Given the description of an element on the screen output the (x, y) to click on. 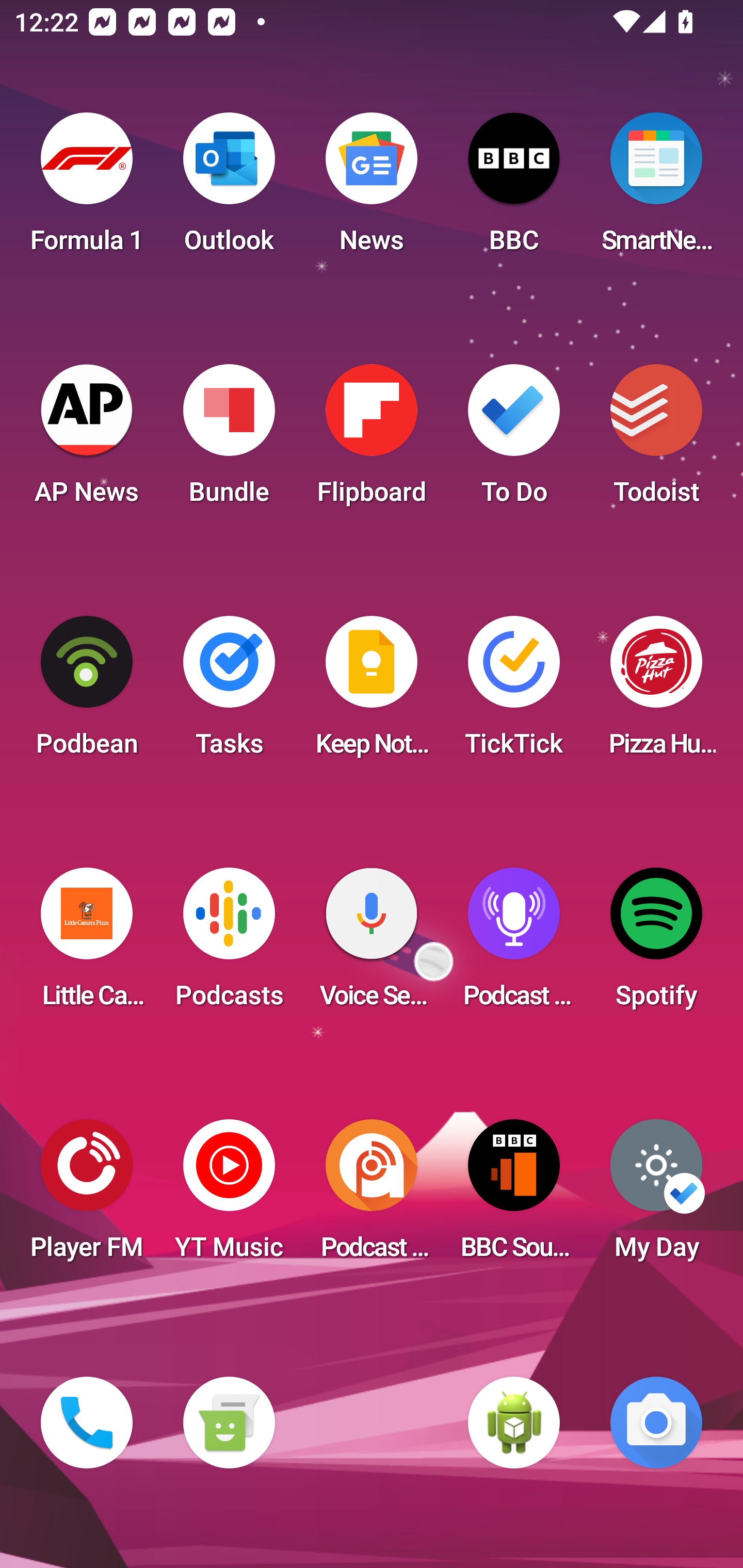
Formula 1 (86, 188)
Outlook (228, 188)
News (371, 188)
BBC (513, 188)
SmartNews (656, 188)
AP News (86, 440)
Bundle (228, 440)
Flipboard (371, 440)
To Do (513, 440)
Todoist (656, 440)
Podbean (86, 692)
Tasks (228, 692)
Keep Notes (371, 692)
TickTick (513, 692)
Pizza Hut HK & Macau (656, 692)
Little Caesars Pizza (86, 943)
Podcasts (228, 943)
Voice Search (371, 943)
Podcast Player (513, 943)
Spotify (656, 943)
Player FM (86, 1195)
YT Music (228, 1195)
Podcast Addict (371, 1195)
BBC Sounds (513, 1195)
My Day (656, 1195)
Phone (86, 1422)
Messaging (228, 1422)
WebView Browser Tester (513, 1422)
Camera (656, 1422)
